Given the description of an element on the screen output the (x, y) to click on. 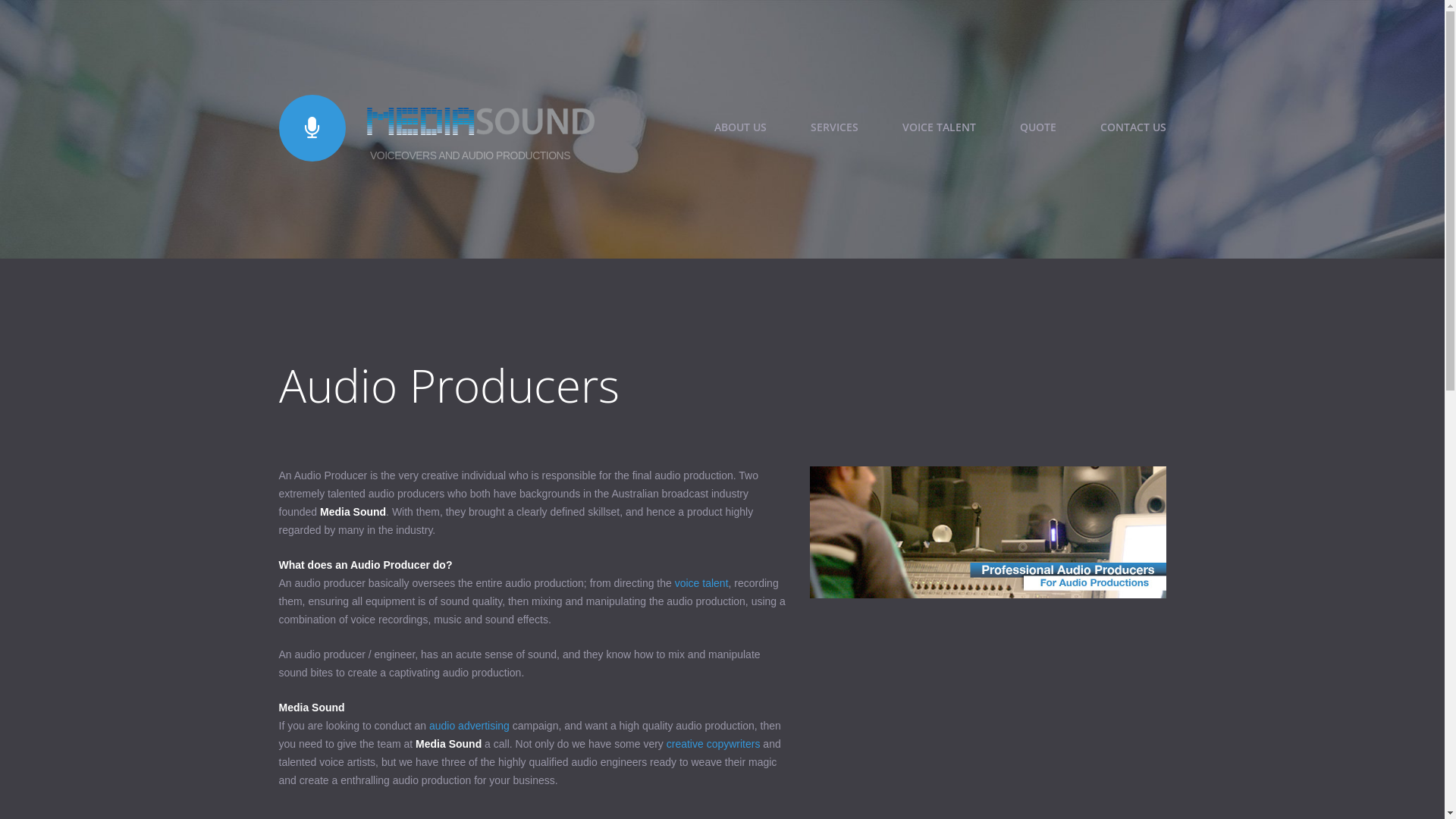
voice talent Element type: text (701, 583)
ABOUT US Element type: text (740, 127)
QUOTE Element type: text (1037, 127)
creative copywriters Element type: text (713, 743)
SERVICES Element type: text (833, 127)
audio advertising Element type: text (469, 725)
CONTACT US Element type: text (1132, 127)
VOICE TALENT Element type: text (938, 127)
